Given the description of an element on the screen output the (x, y) to click on. 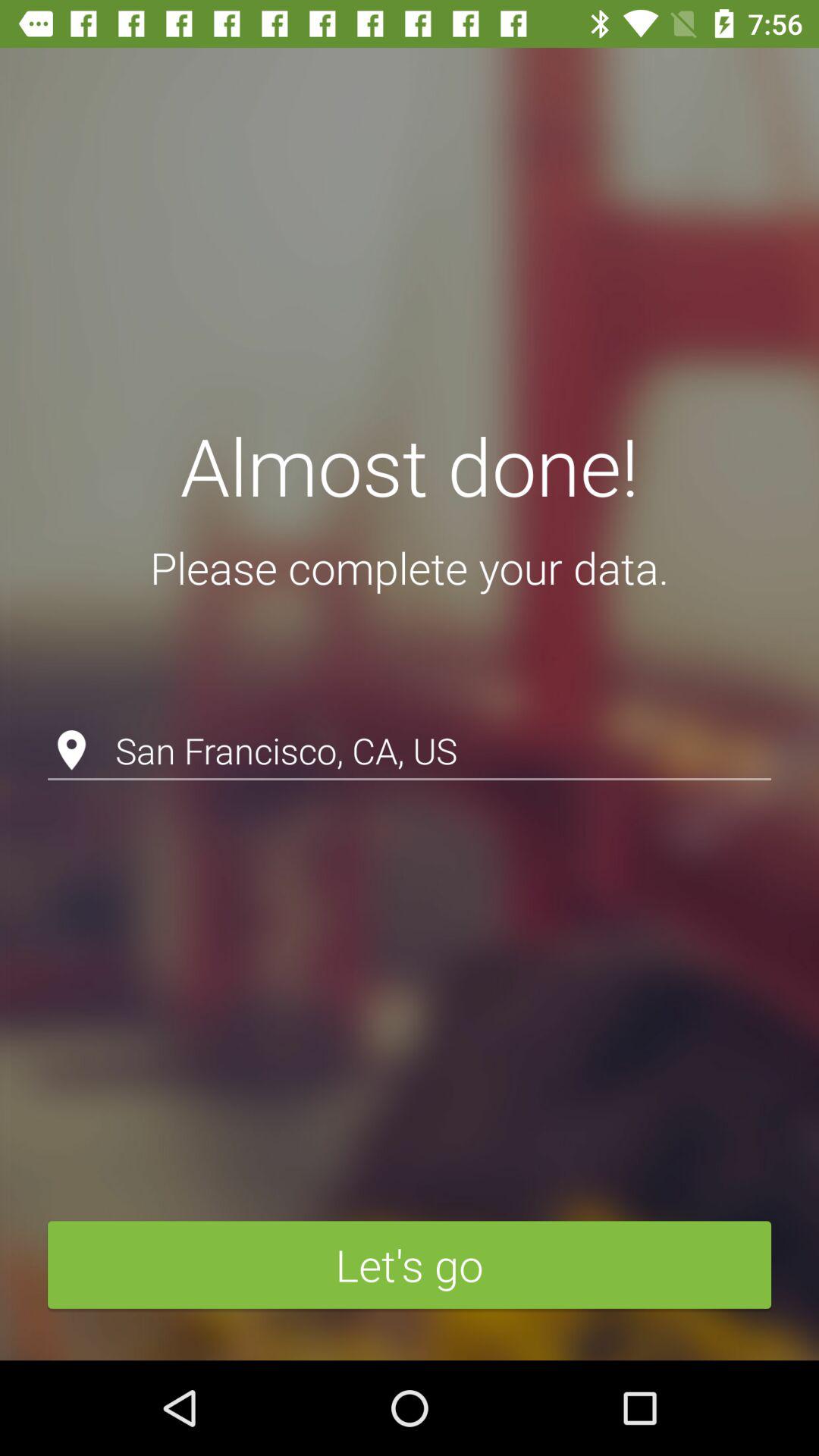
location text input field (409, 711)
